Given the description of an element on the screen output the (x, y) to click on. 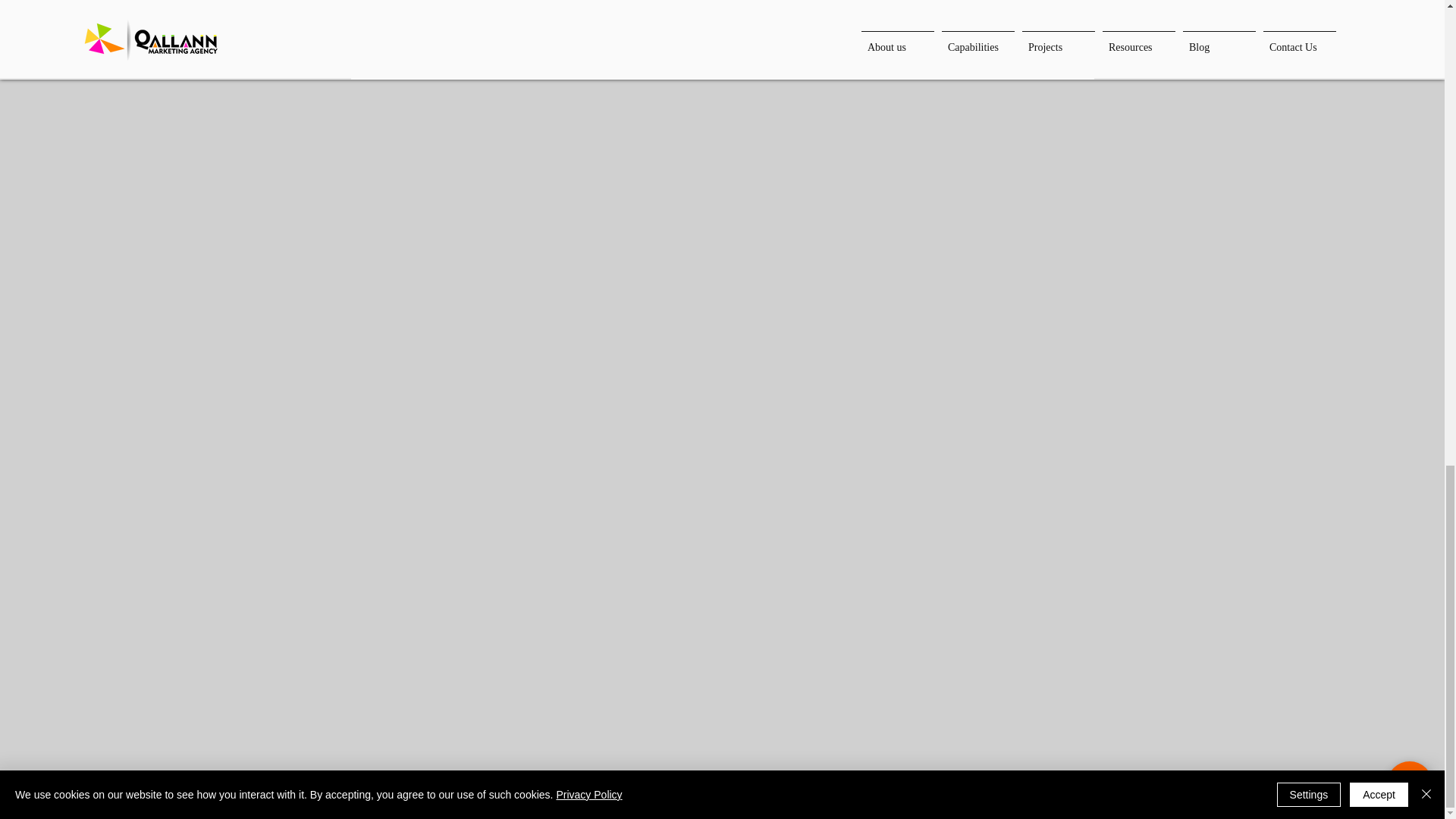
Refund Policy (382, 798)
Terms and Conditions (498, 798)
